Given the description of an element on the screen output the (x, y) to click on. 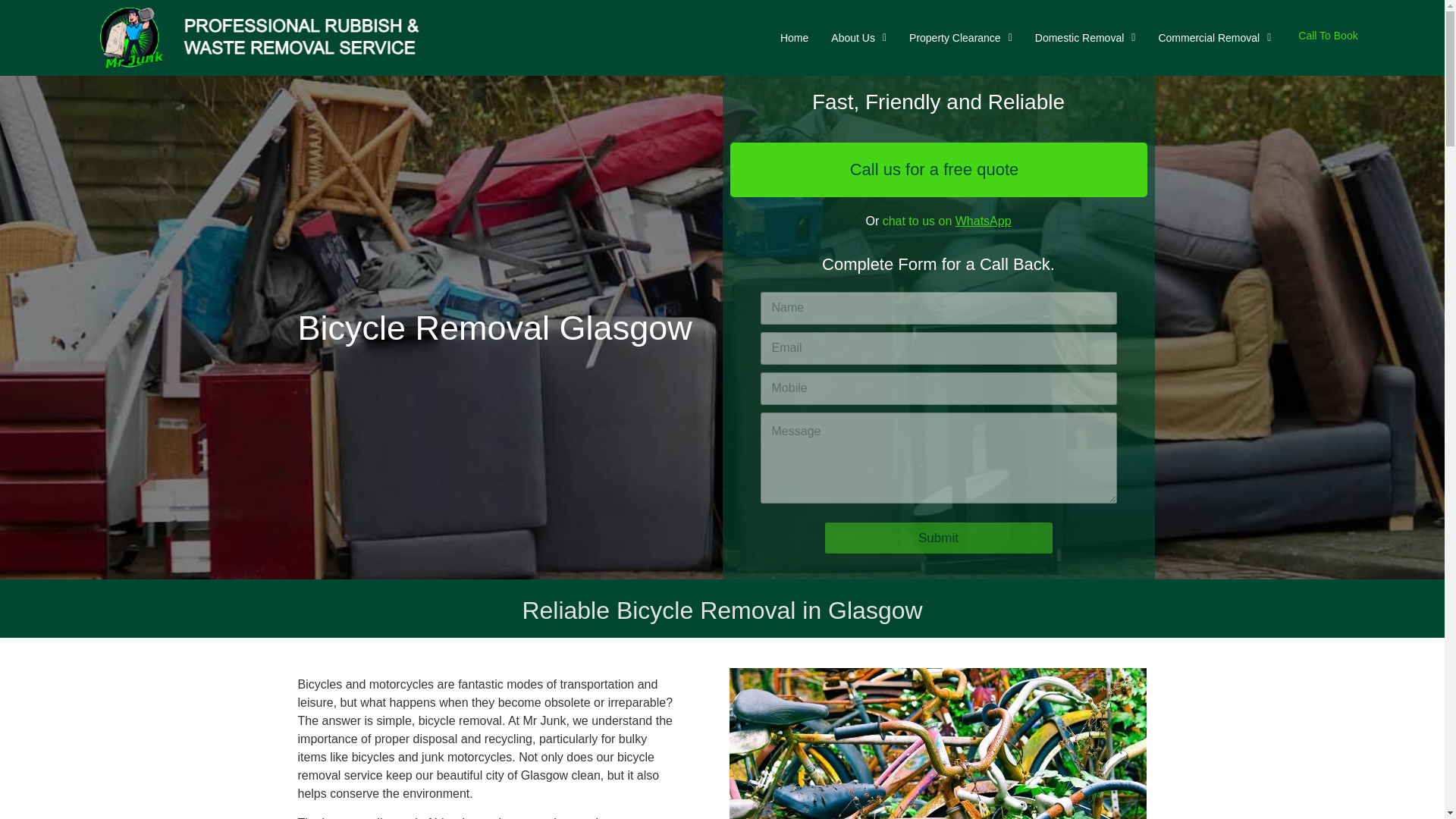
Home (794, 37)
Domestic Removal (1085, 37)
Commercial Removal (1214, 37)
Property Clearance (959, 37)
About Us (858, 37)
